Given the description of an element on the screen output the (x, y) to click on. 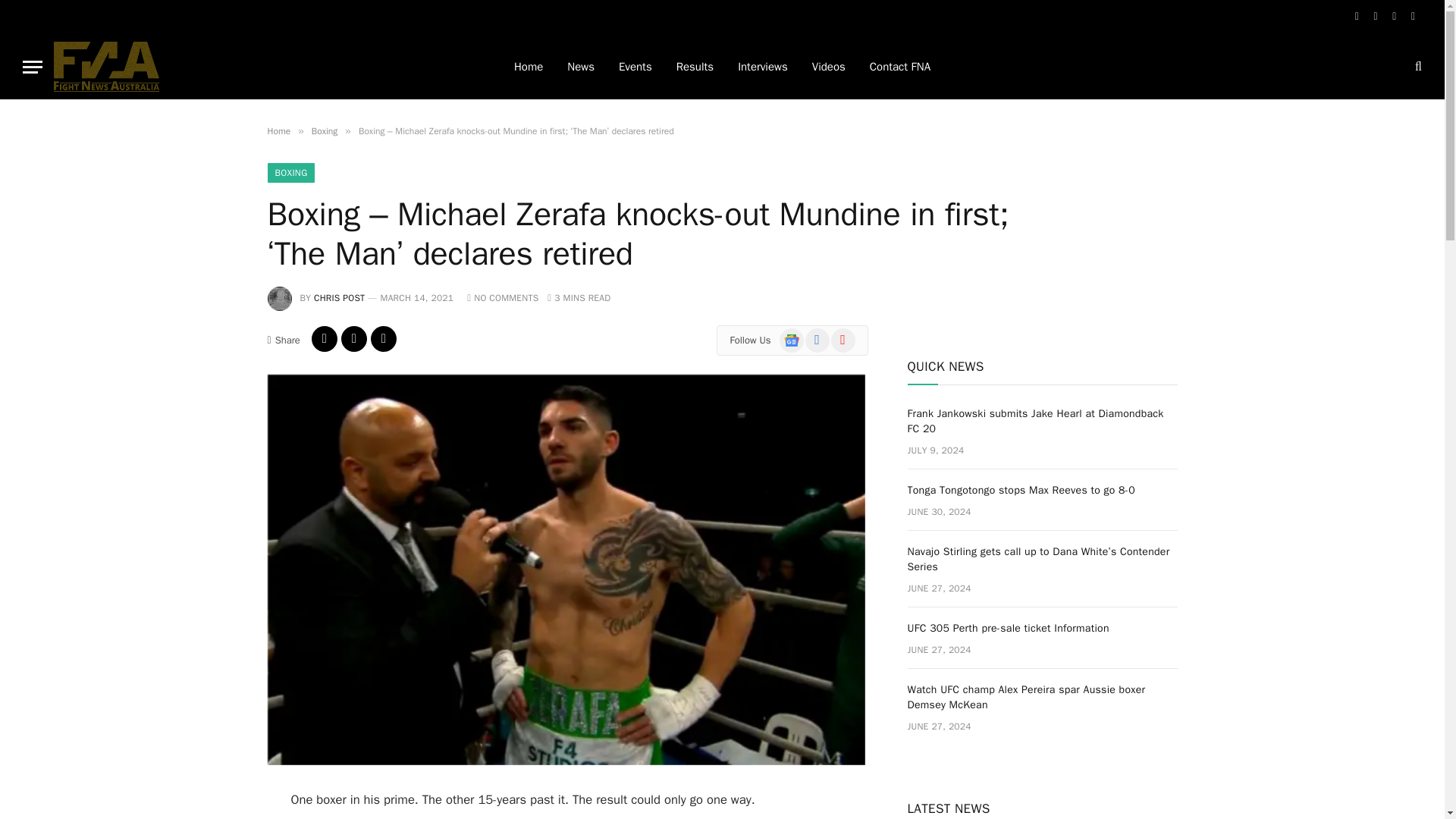
Google News (790, 340)
Events (635, 66)
BOXING (290, 172)
NO COMMENTS (502, 297)
Posts by Chris Post (339, 297)
Results (694, 66)
Boxing (324, 131)
Facebook (817, 340)
CHRIS POST (339, 297)
YouTube (1413, 17)
Share on Facebook (324, 338)
Search (1417, 66)
Facebook (1356, 17)
Home (277, 131)
Instagram (1394, 17)
